Given the description of an element on the screen output the (x, y) to click on. 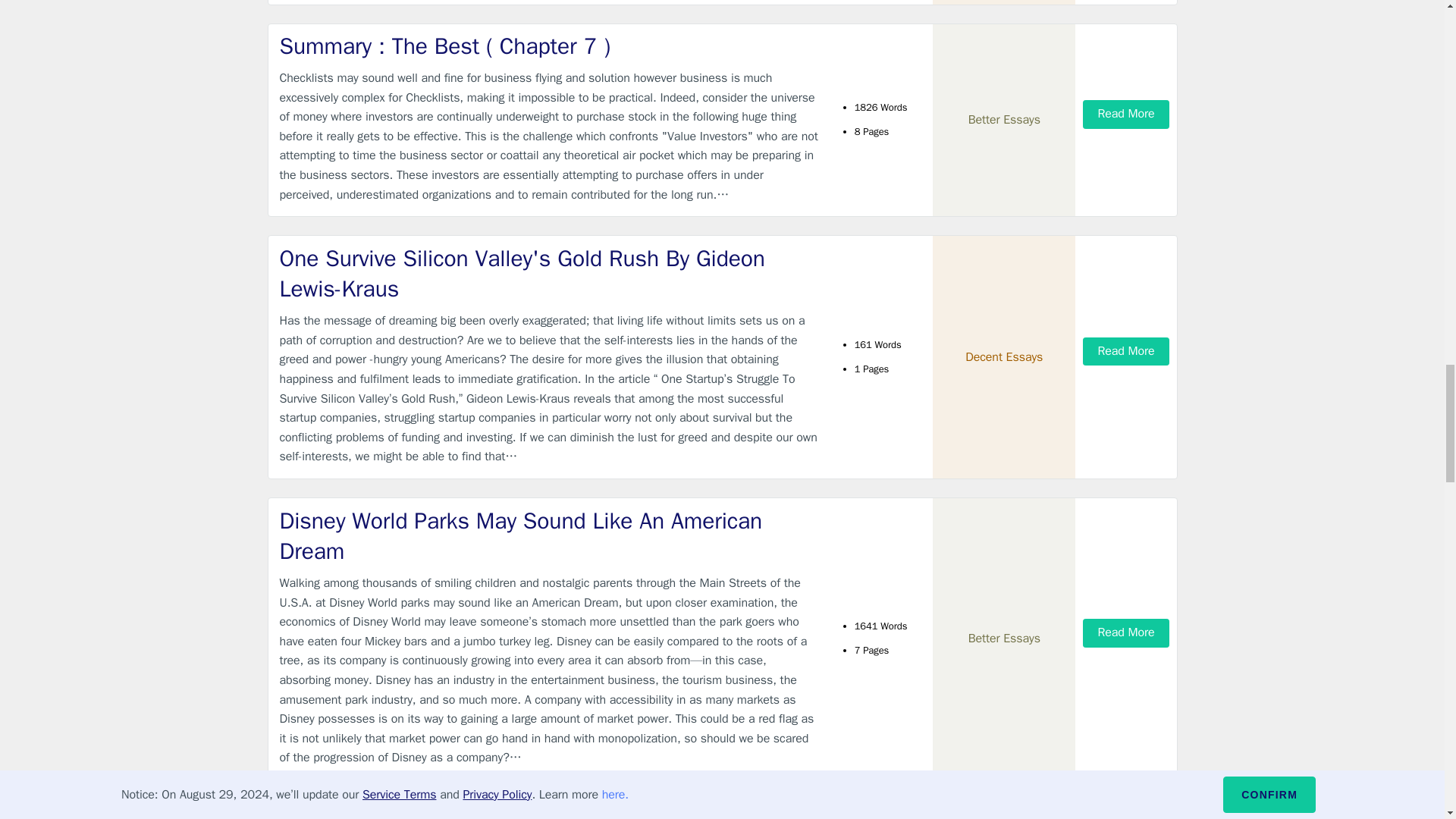
Read More (1126, 351)
Read More (1126, 113)
Read More (1126, 633)
Disney World Parks May Sound Like An American Dream (548, 536)
One Survive Silicon Valley's Gold Rush By Gideon Lewis-Kraus (548, 273)
